Given the description of an element on the screen output the (x, y) to click on. 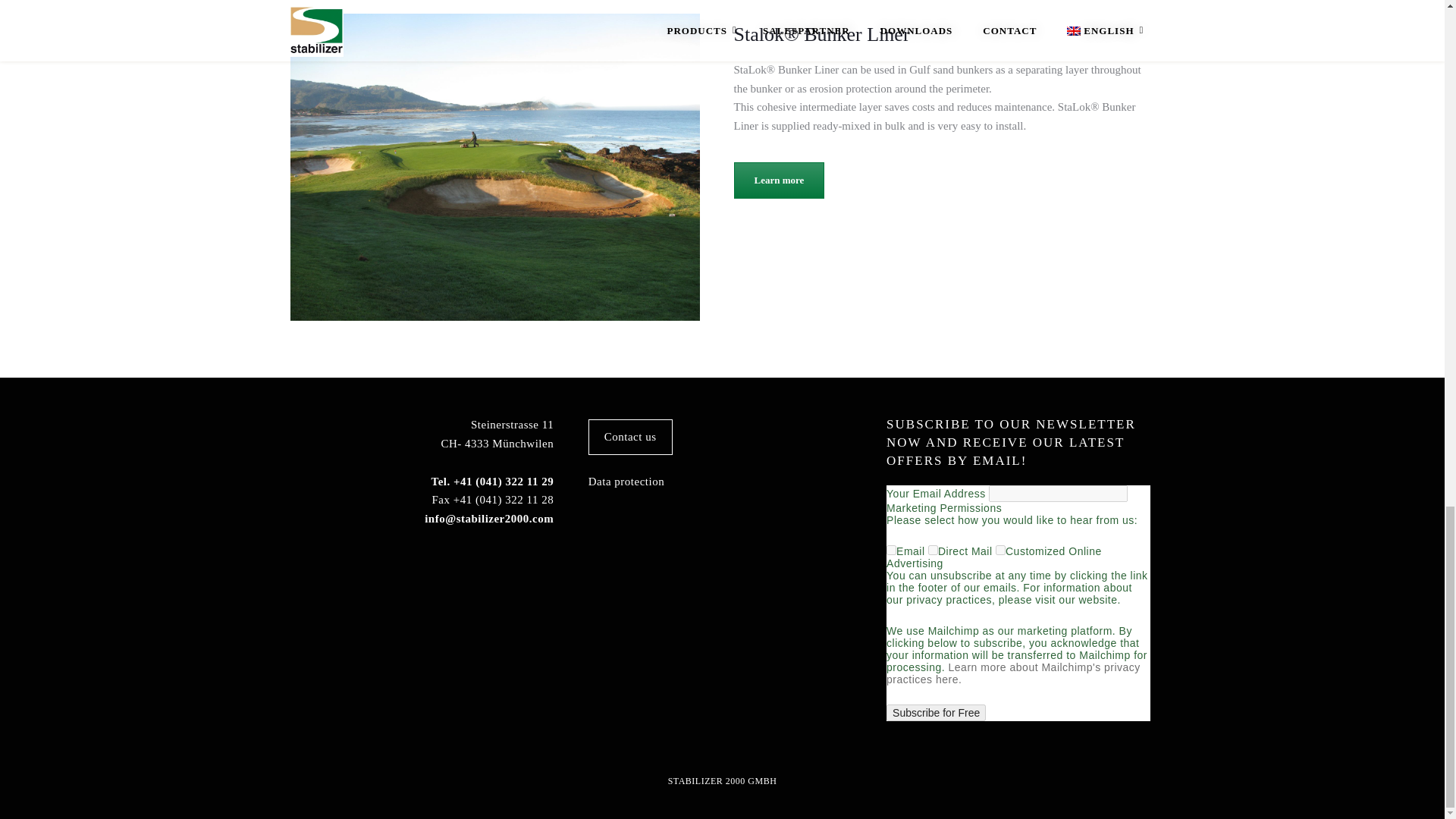
Y (891, 550)
Contact us (630, 437)
Bunker-stabalizer-043-e1585916261292 (493, 167)
Learn more (779, 180)
Y (932, 550)
Y (1000, 550)
Subscribe for Free (935, 712)
